Given the description of an element on the screen output the (x, y) to click on. 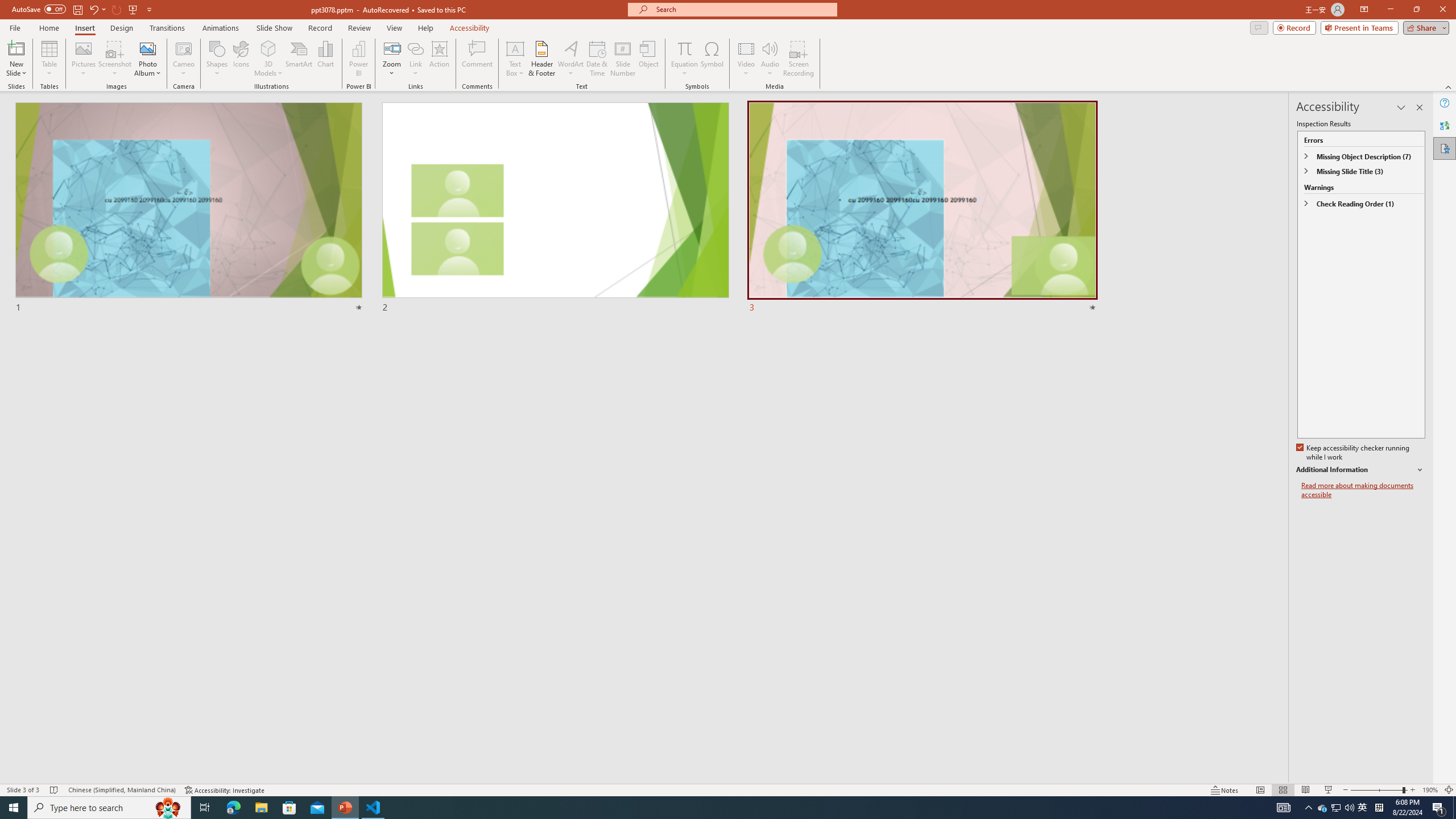
Screen Recording... (798, 58)
Equation (683, 58)
Video (745, 58)
Read more about making documents accessible (1363, 489)
Chart... (325, 58)
Keep accessibility checker running while I work (1353, 452)
Symbol... (711, 58)
